Given the description of an element on the screen output the (x, y) to click on. 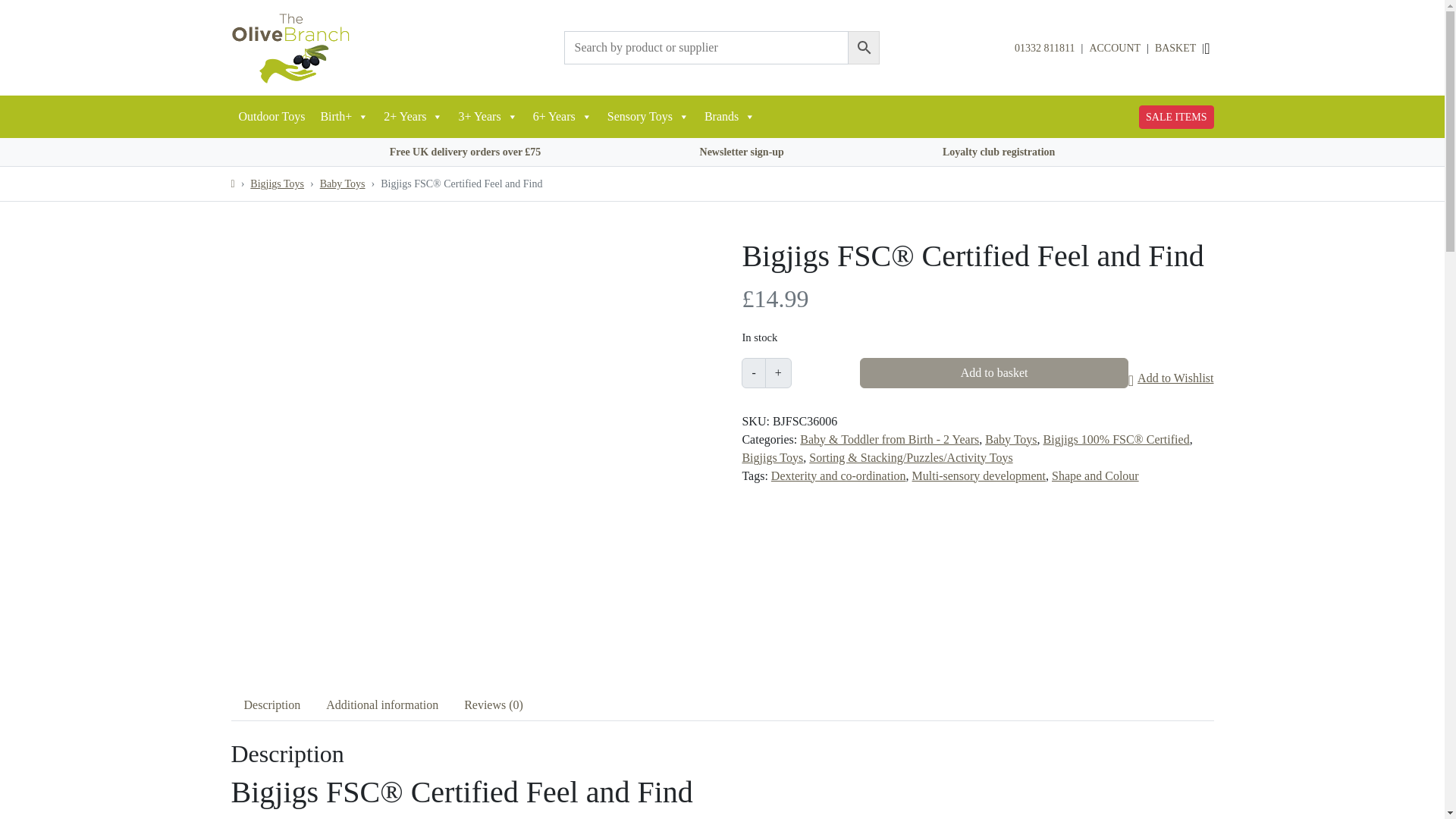
ACCOUNT (1114, 48)
Sensory Toys (648, 116)
Outdoor Toys (271, 116)
01332 811811 (1044, 48)
BASKET (1174, 48)
